Given the description of an element on the screen output the (x, y) to click on. 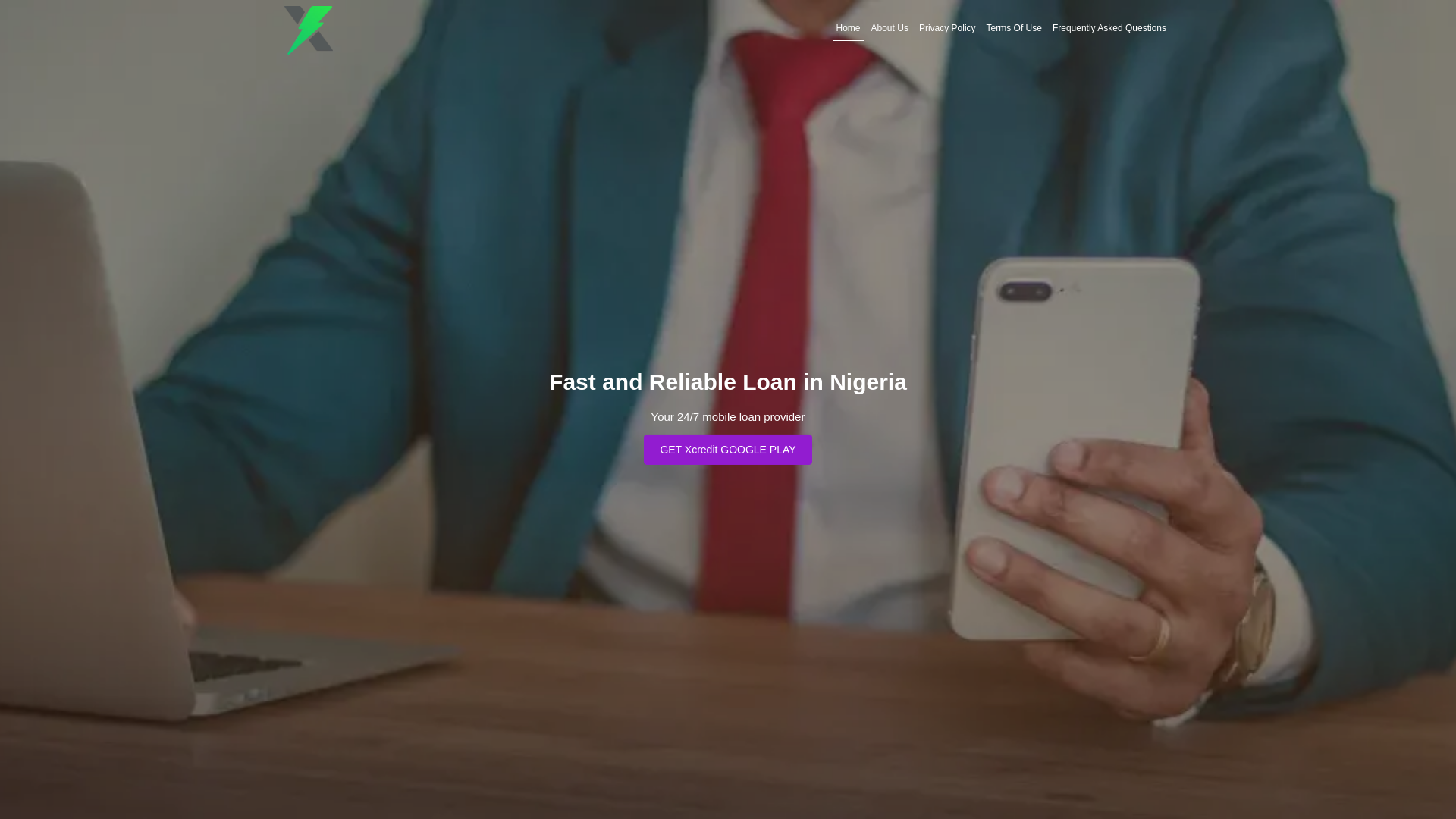
GET Xcredit GOOGLE PLAY Element type: text (727, 448)
Terms Of Use Element type: text (1014, 28)
Home Element type: text (848, 28)
About Us Element type: text (889, 28)
GET Xcredit GOOGLE PLAY Element type: text (727, 449)
Frequently Asked Questions Element type: text (1109, 28)
Privacy Policy Element type: text (947, 28)
